Given the description of an element on the screen output the (x, y) to click on. 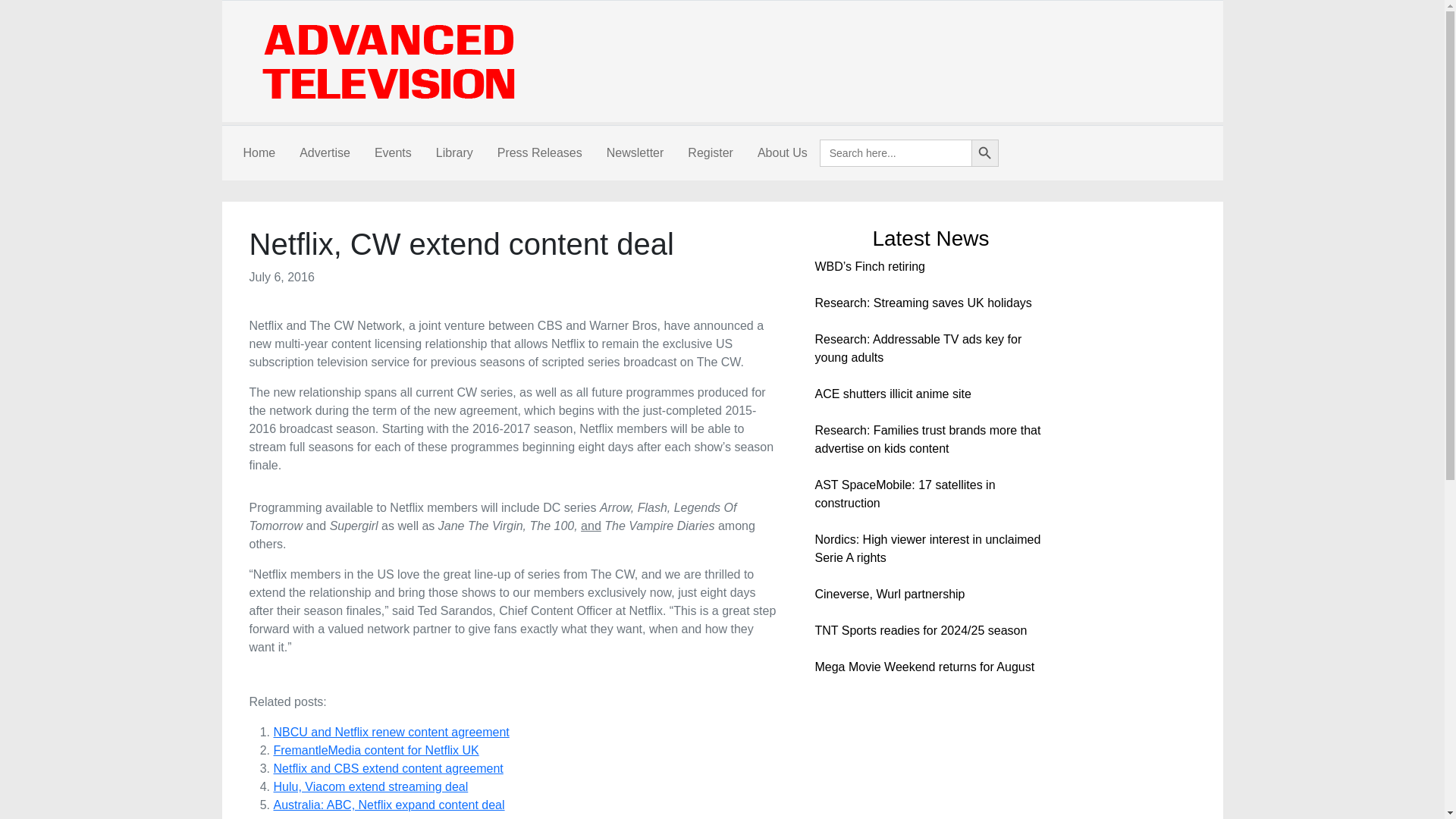
ACE shutters illicit anime site (892, 393)
Mega Movie Weekend returns for August (923, 666)
Cineverse, Wurl partnership (888, 594)
FremantleMedia content for Netflix UK (376, 749)
Hulu, Viacom extend streaming deal (370, 786)
Home (258, 153)
Hulu, Viacom extend streaming deal (370, 786)
Netflix and CBS extend content agreement (387, 768)
About Us (782, 153)
